Given the description of an element on the screen output the (x, y) to click on. 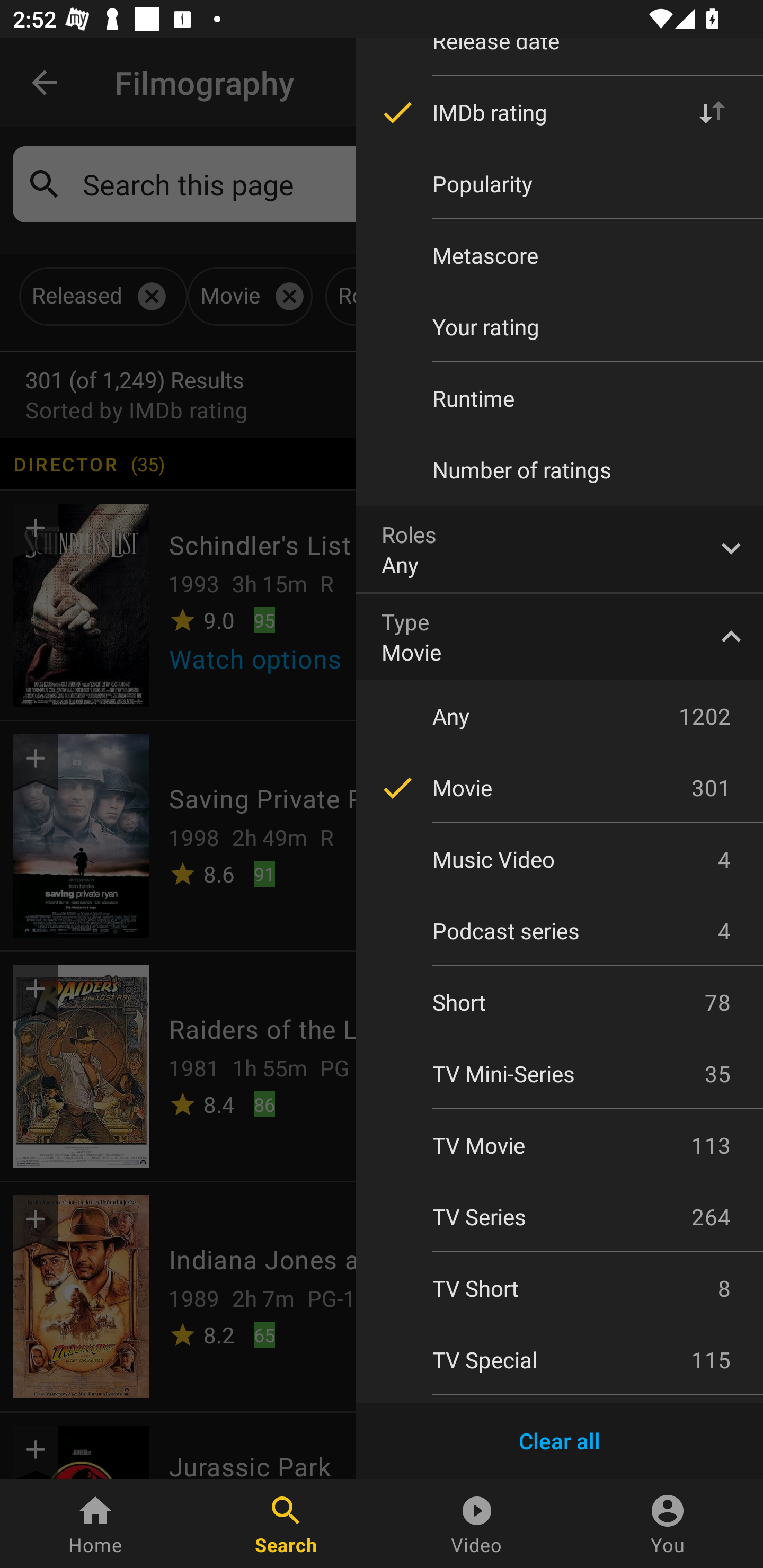
IMDb rating (559, 111)
Popularity (559, 183)
Metascore (559, 255)
Your rating (559, 326)
Runtime (559, 397)
Number of ratings (559, 469)
Roles Any (559, 549)
Type Movie (559, 636)
Any 1202 (559, 715)
Movie 301 (559, 787)
Music Video 4 (559, 858)
Podcast series 4 (559, 930)
Short 78 (559, 1001)
TV Mini-Series 35 (559, 1073)
TV Movie 113 (559, 1145)
TV Series 264 (559, 1216)
TV Short 8 (559, 1287)
TV Special 115 (559, 1359)
Clear all (559, 1440)
Home (95, 1523)
Video (476, 1523)
You (667, 1523)
